Given the description of an element on the screen output the (x, y) to click on. 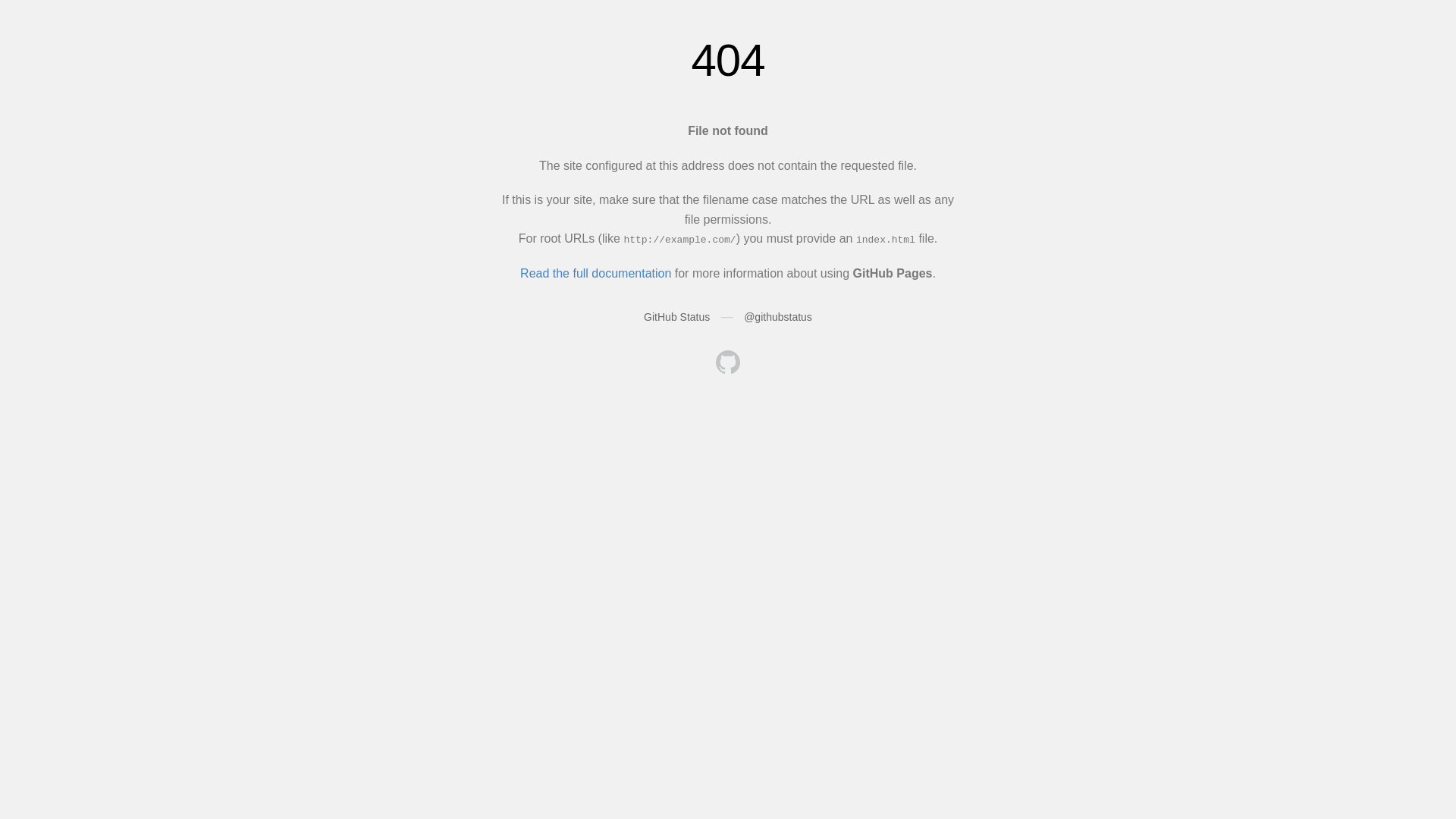
@githubstatus Element type: text (777, 316)
GitHub Status Element type: text (676, 316)
Read the full documentation Element type: text (595, 272)
